Given the description of an element on the screen output the (x, y) to click on. 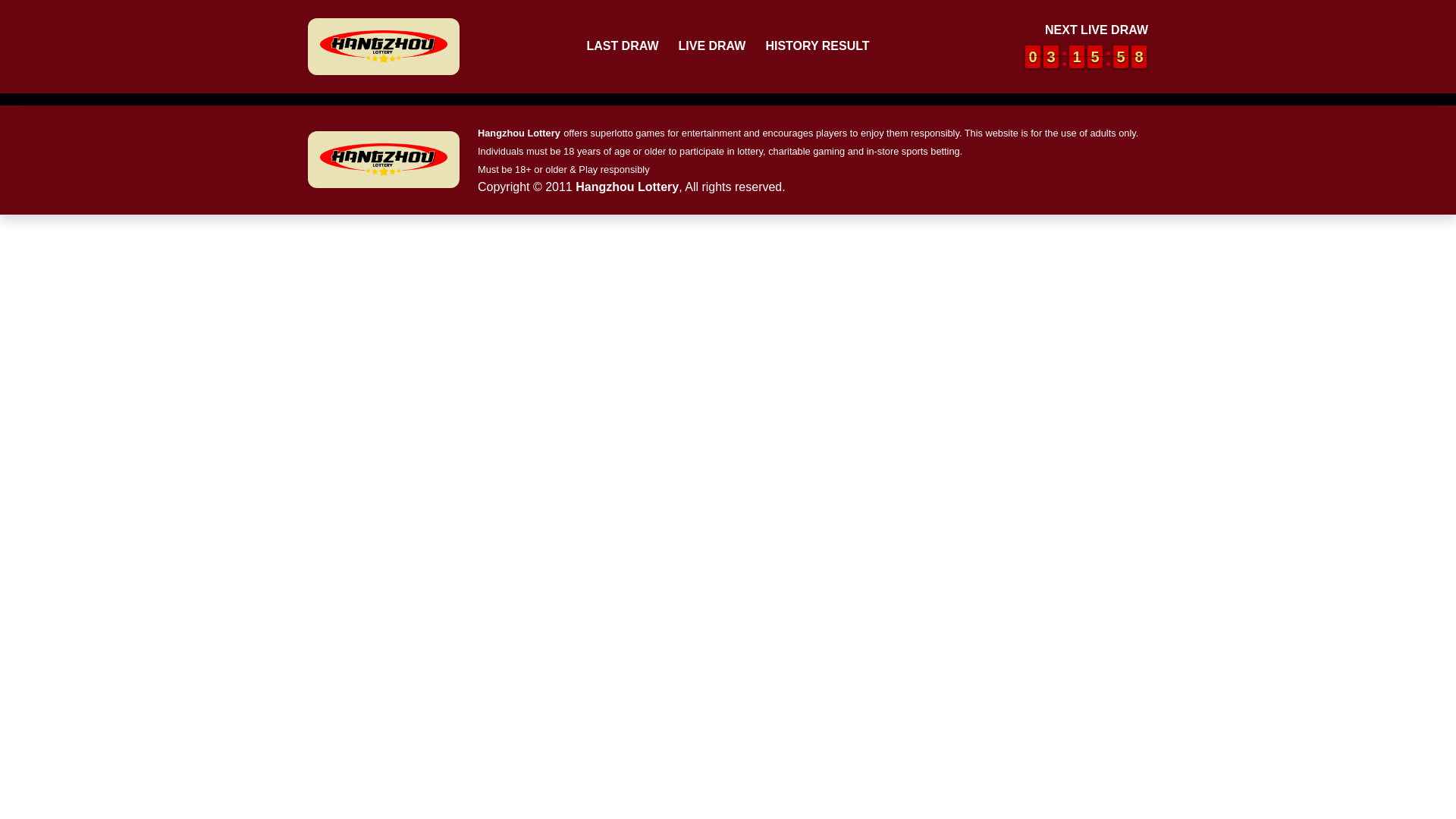
Last Draw (621, 46)
LIVE DRAW (1139, 56)
History Result (1076, 56)
LAST DRAW (1094, 56)
Live Draw (711, 46)
HISTORY RESULT (816, 46)
